Given the description of an element on the screen output the (x, y) to click on. 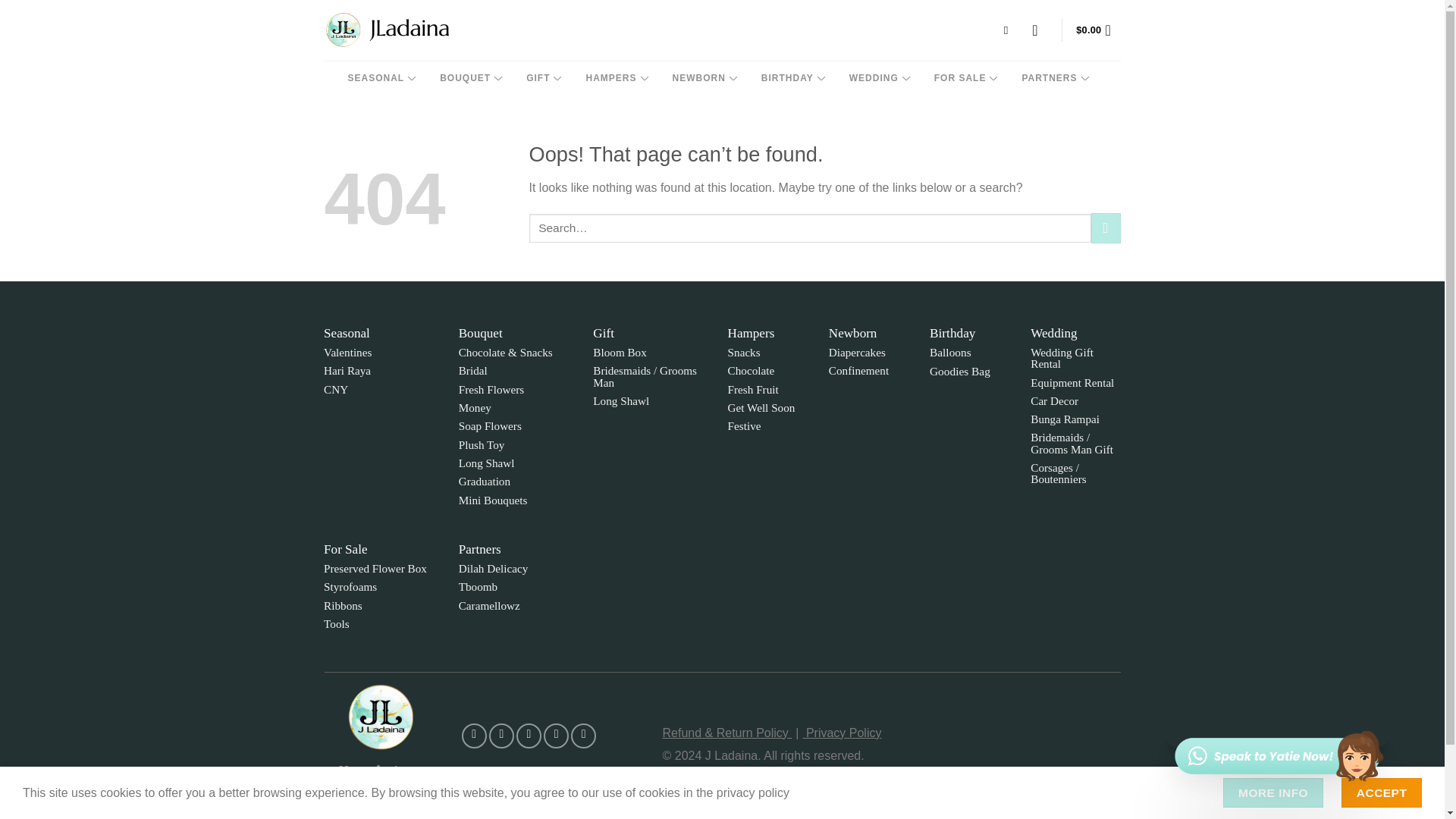
Call us (582, 735)
Send us an email (556, 735)
HAMPERS (615, 77)
J Ladaina - Customerization at its best (386, 30)
Follow on Instagram (501, 735)
GIFT (542, 77)
Follow on TikTok (528, 735)
Follow on Facebook (473, 735)
BOUQUET (469, 77)
SEASONAL (380, 77)
Cart (1097, 29)
